Given the description of an element on the screen output the (x, y) to click on. 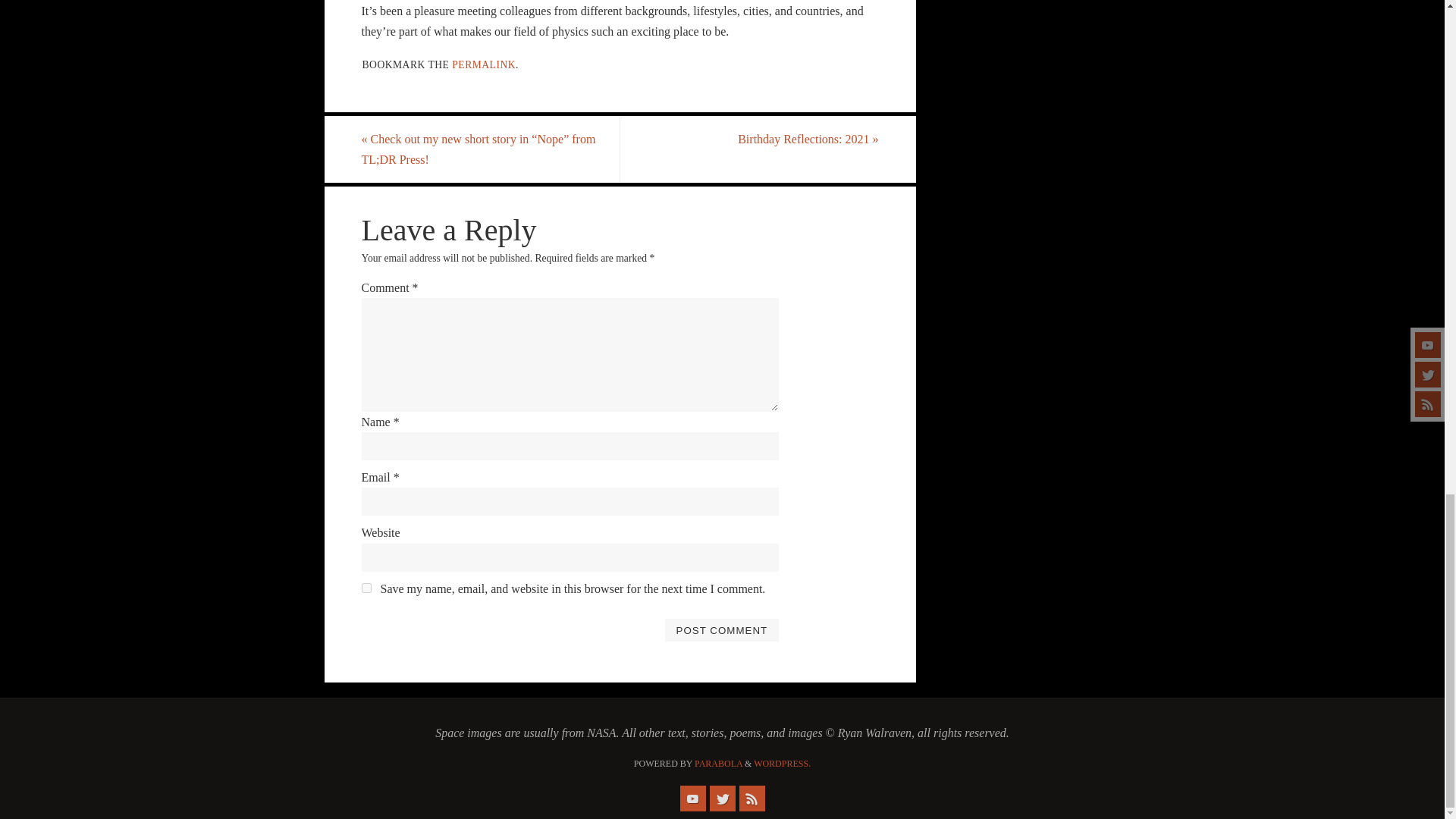
Post Comment (721, 630)
yes (366, 587)
PERMALINK (483, 64)
Parabola Theme by Cryout Creations (718, 763)
RSS (751, 798)
Semantic Personal Publishing Platform (782, 763)
Permalink to On Einstein, Racism, and Physics (483, 64)
WORDPRESS. (782, 763)
Twitter (722, 798)
PARABOLA (718, 763)
YouTube (691, 798)
Post Comment (721, 630)
